Given the description of an element on the screen output the (x, y) to click on. 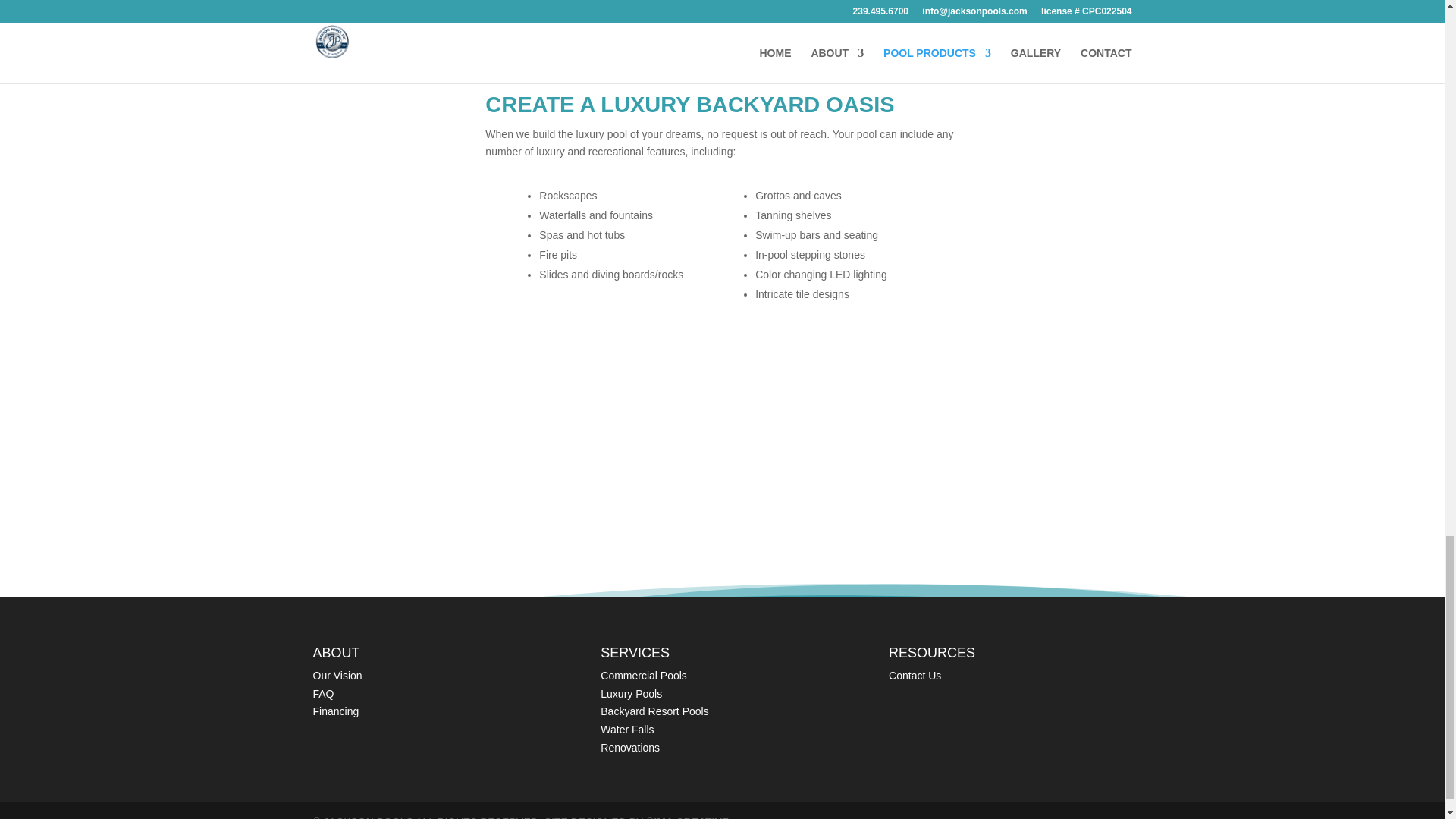
Financing (335, 711)
FAQ (323, 693)
Luxury Pools (630, 693)
Contact Us (914, 675)
Backyard Resort Pools (653, 711)
Commercial Pools (643, 675)
Our Vision (337, 675)
Renovations (629, 747)
IMA CREATIVE (691, 817)
Water Falls (626, 729)
